Given the description of an element on the screen output the (x, y) to click on. 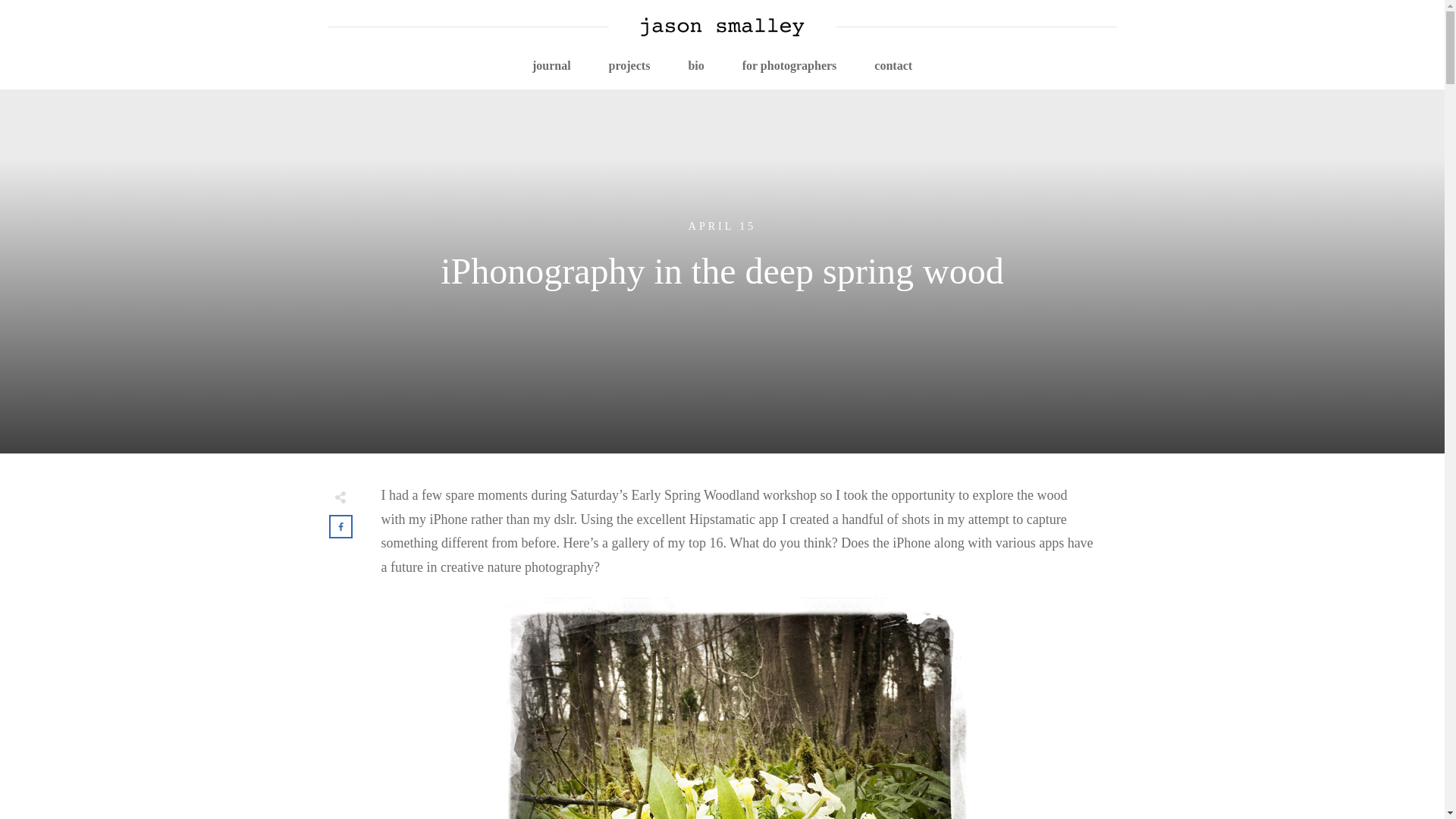
for photographers (789, 65)
journal (551, 65)
contact (893, 65)
projects (629, 65)
